Given the description of an element on the screen output the (x, y) to click on. 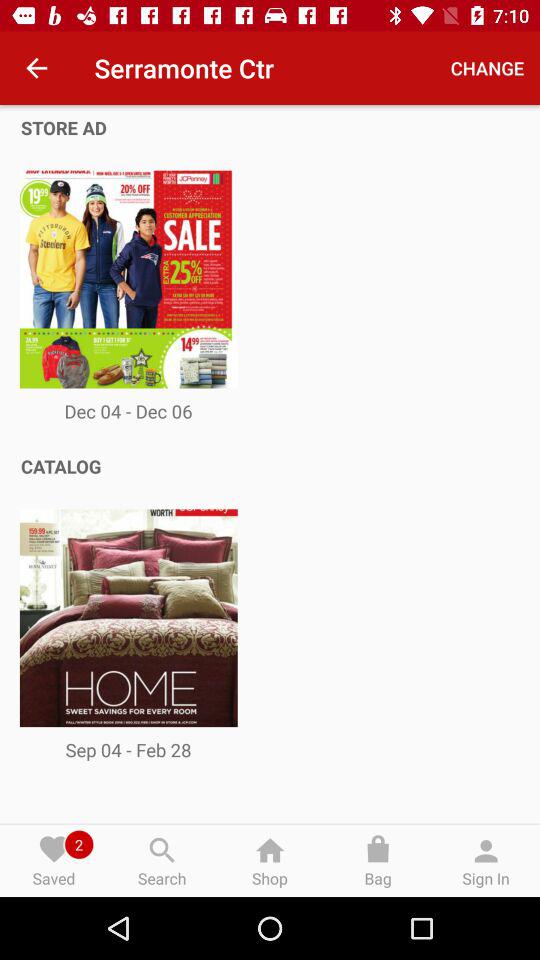
swipe to change (487, 67)
